Given the description of an element on the screen output the (x, y) to click on. 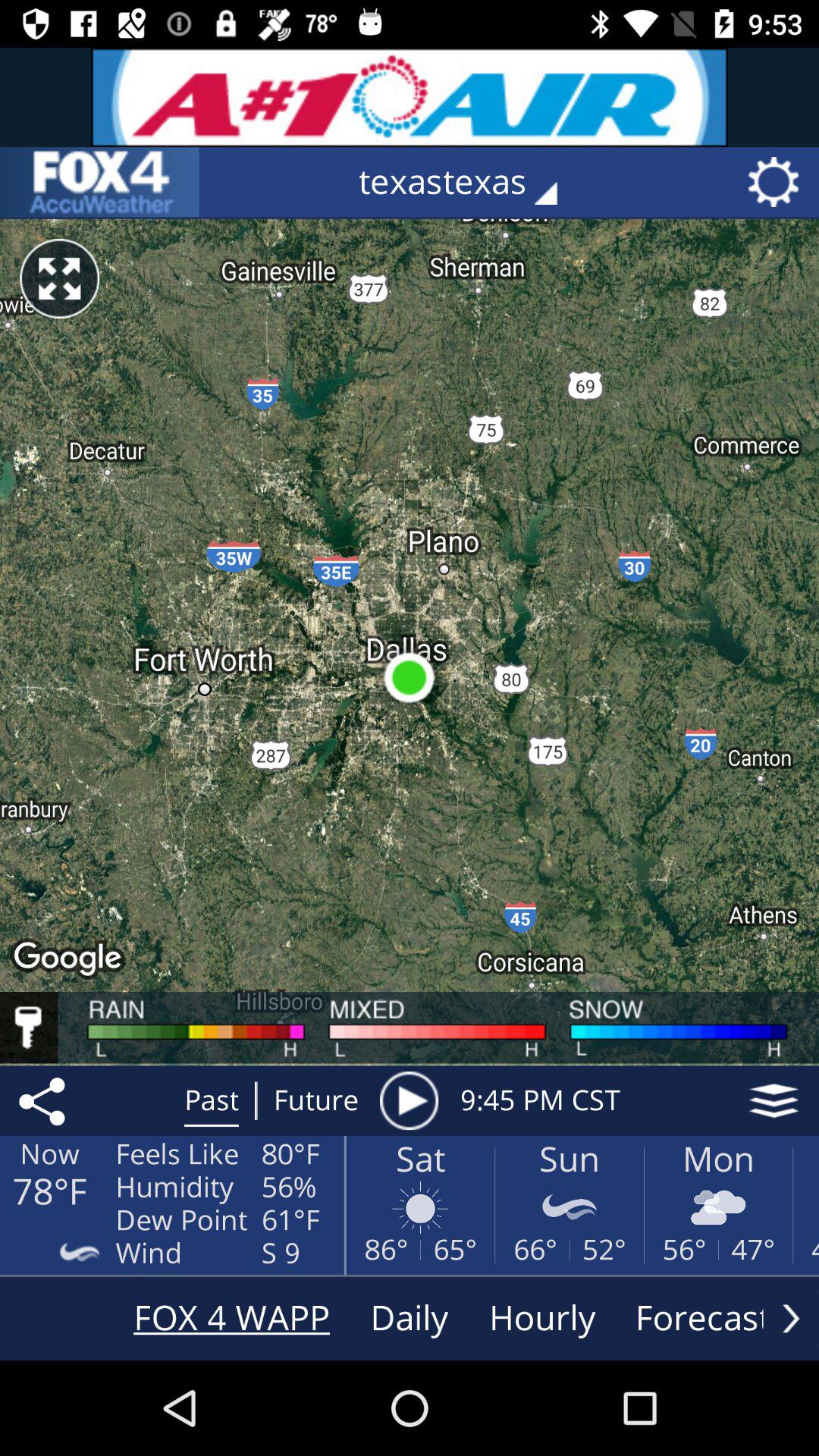
see more options (791, 1318)
